Given the description of an element on the screen output the (x, y) to click on. 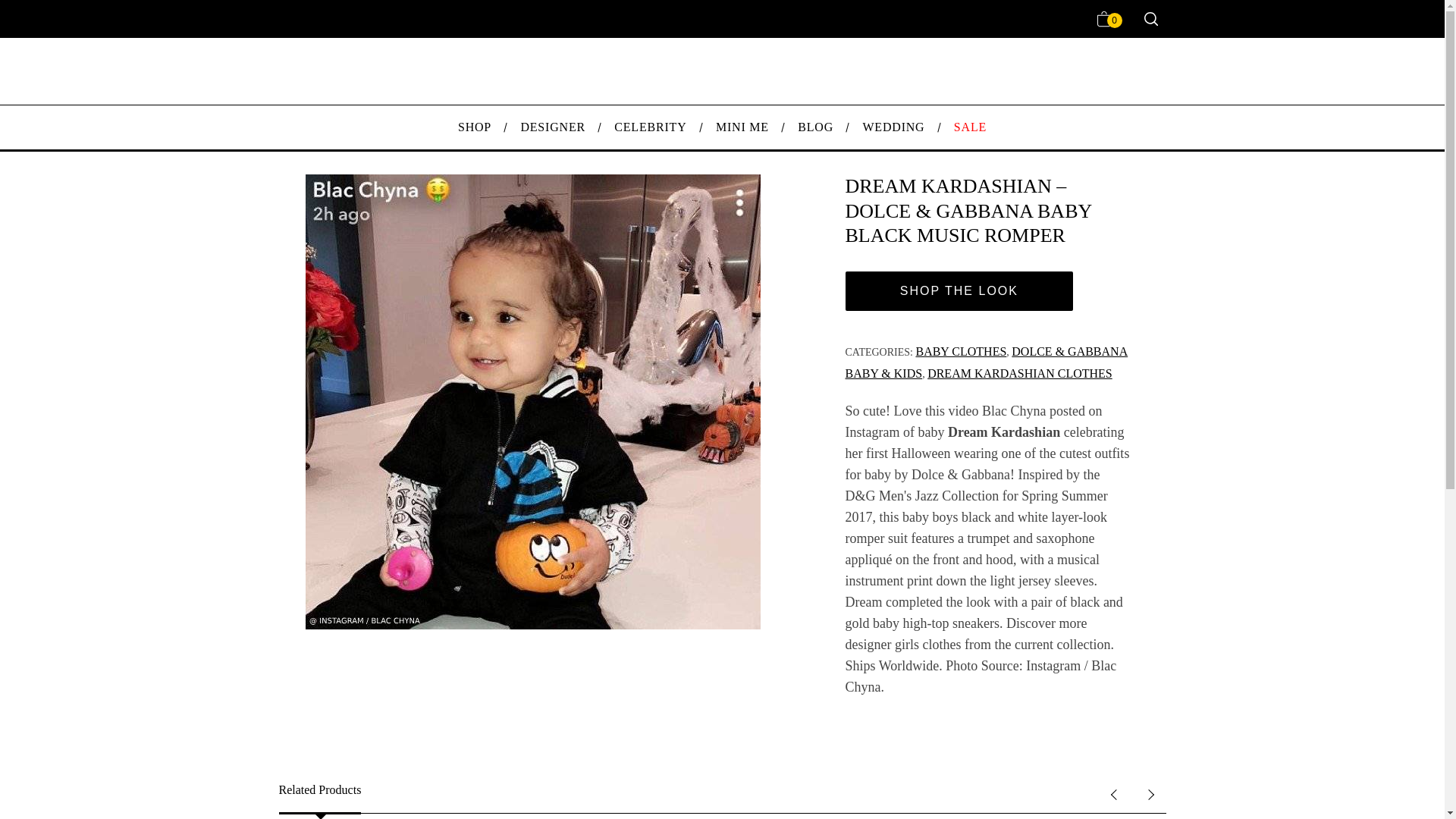
WEDDING (893, 127)
SALE (970, 127)
CELEBRITY (650, 127)
BLOG (815, 127)
MINI ME (742, 127)
